Given the description of an element on the screen output the (x, y) to click on. 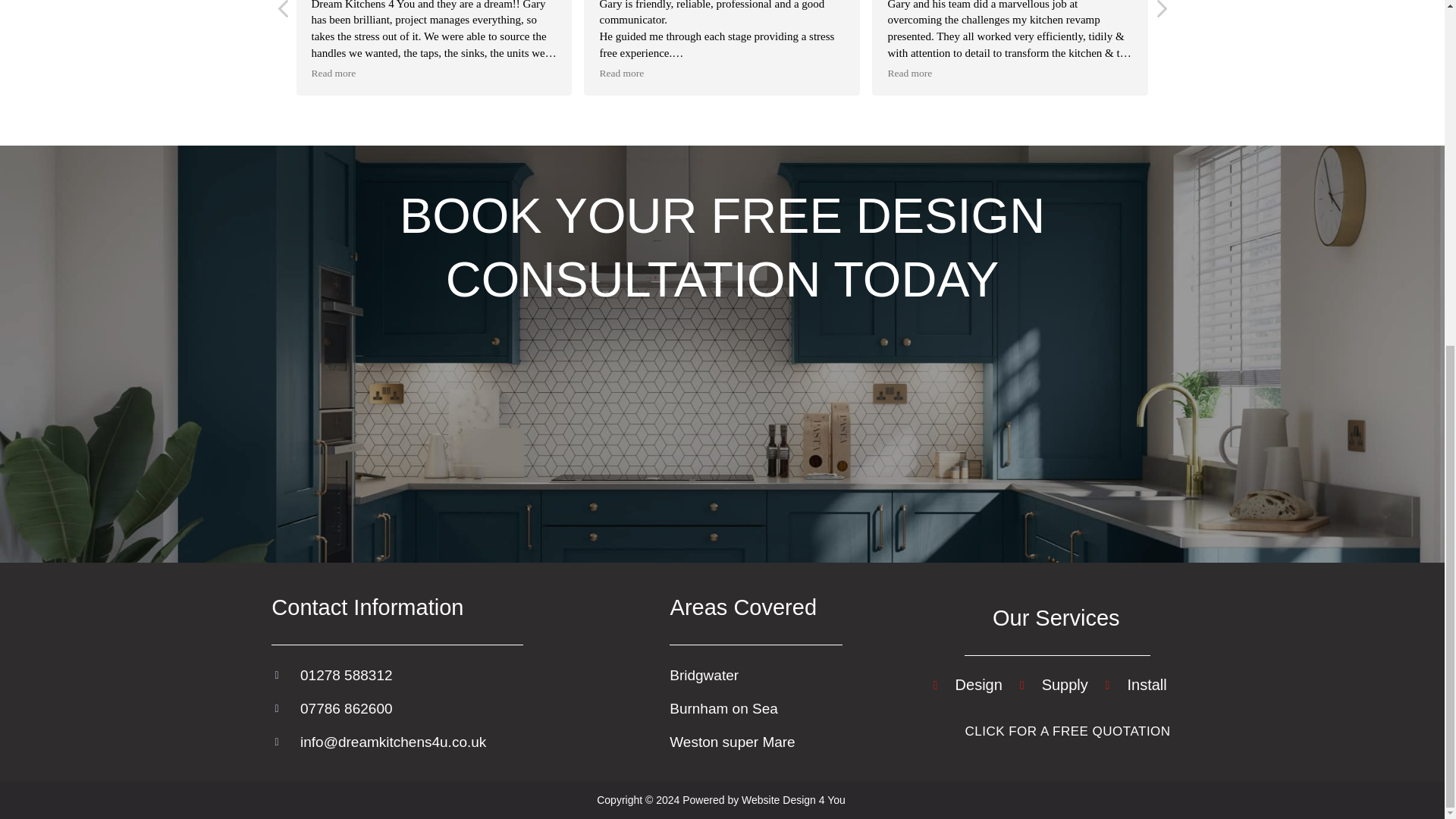
Burnham on Sea (777, 708)
Bridgwater (777, 674)
Weston super Mare (777, 741)
07786 862600 (460, 708)
01278 588312 (460, 674)
CLICK FOR A FREE QUOTATION (1066, 730)
